Given the description of an element on the screen output the (x, y) to click on. 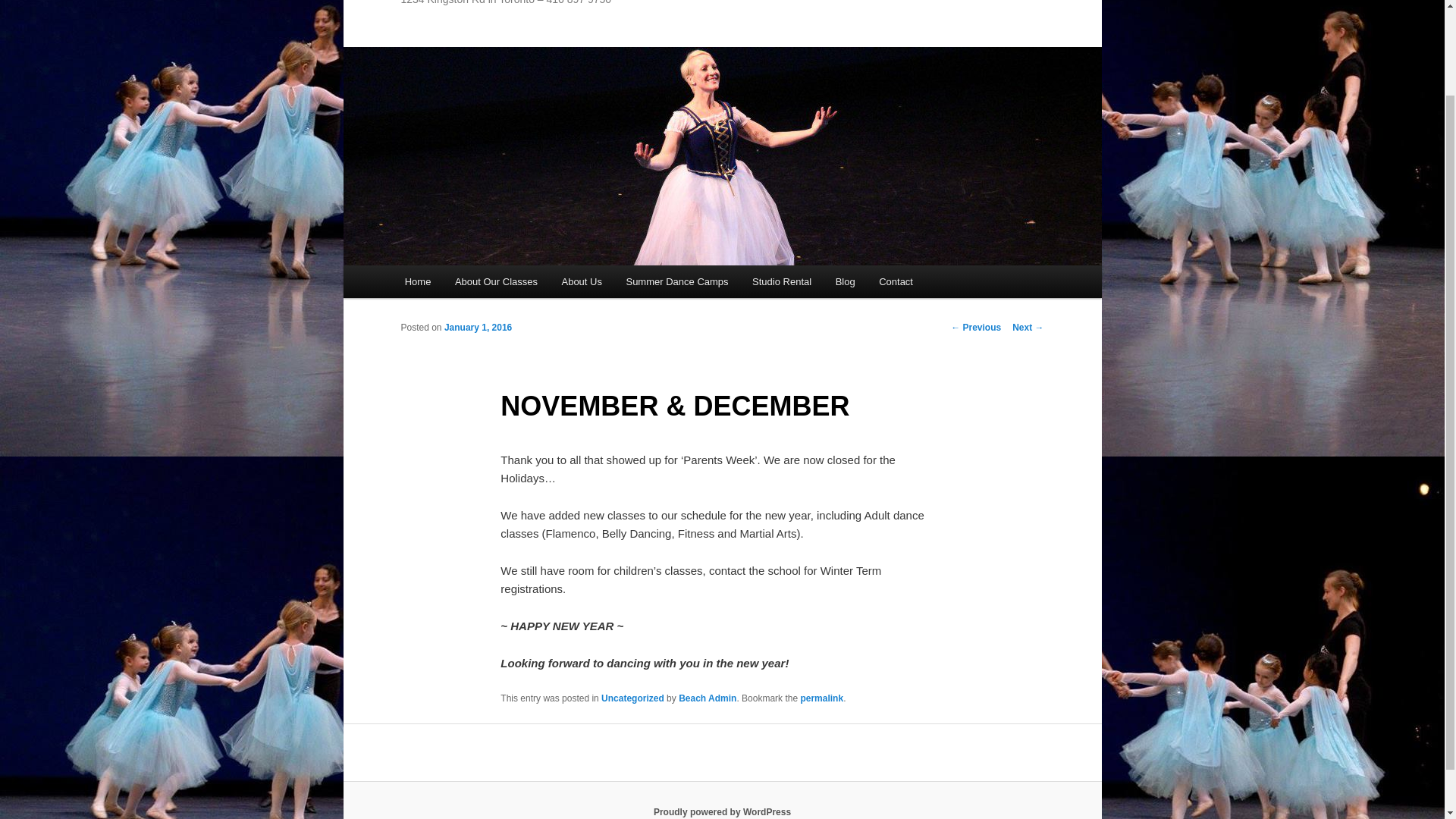
Studio Rental (781, 281)
Blog (845, 281)
Beach Admin (707, 697)
Contact (895, 281)
12:41 am (478, 327)
Home (417, 281)
Uncategorized (632, 697)
Proudly powered by WordPress (721, 811)
Semantic Personal Publishing Platform (721, 811)
Summer Dance Camps (677, 281)
